Given the description of an element on the screen output the (x, y) to click on. 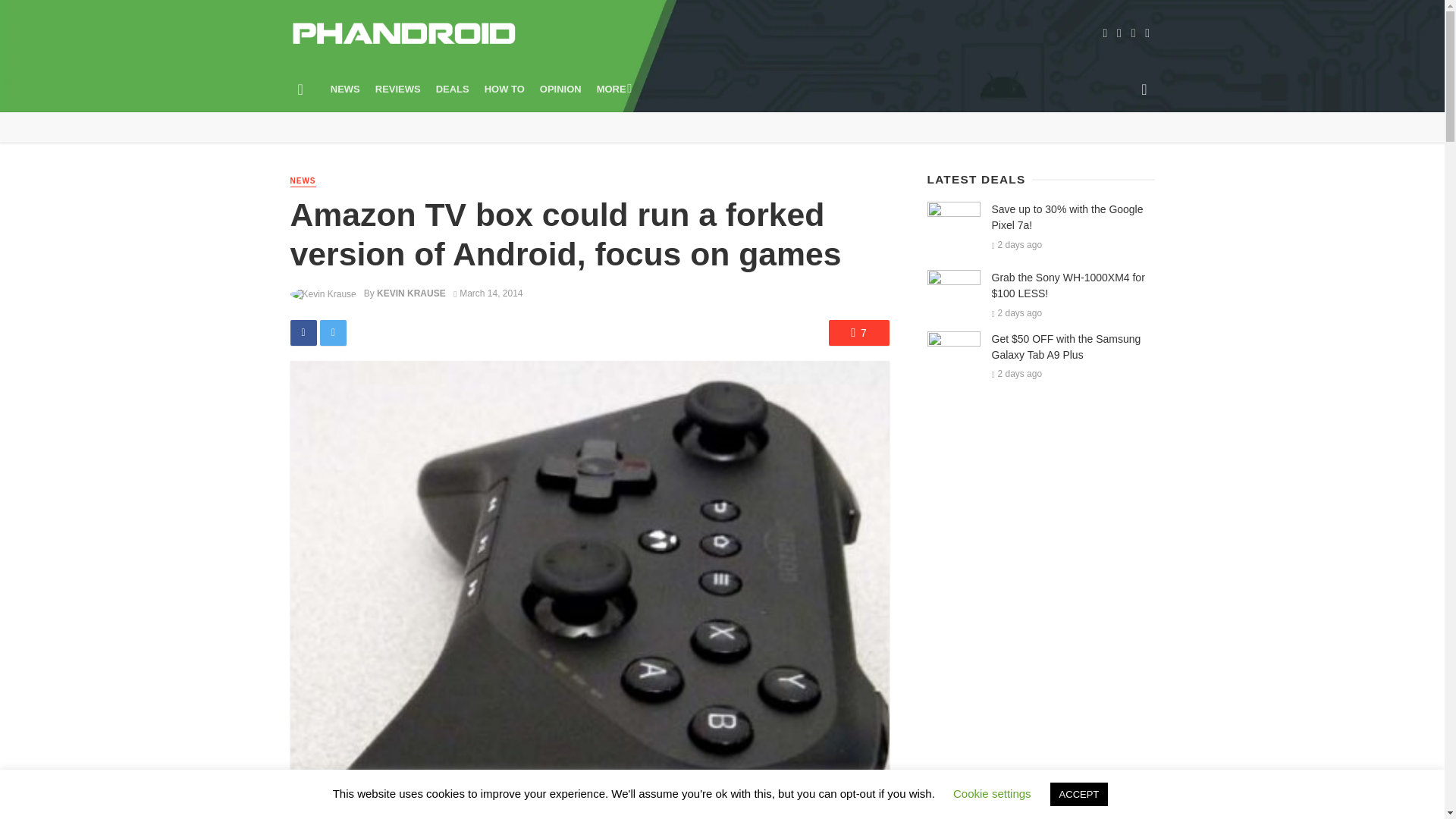
NEWS (345, 89)
7 (858, 332)
MORE (612, 89)
Posts by Kevin Krause (411, 293)
NEWS (302, 181)
KEVIN KRAUSE (411, 293)
March 14, 2014 at 11:18 am (487, 293)
REVIEWS (398, 89)
DEALS (452, 89)
OPINION (560, 89)
